Given the description of an element on the screen output the (x, y) to click on. 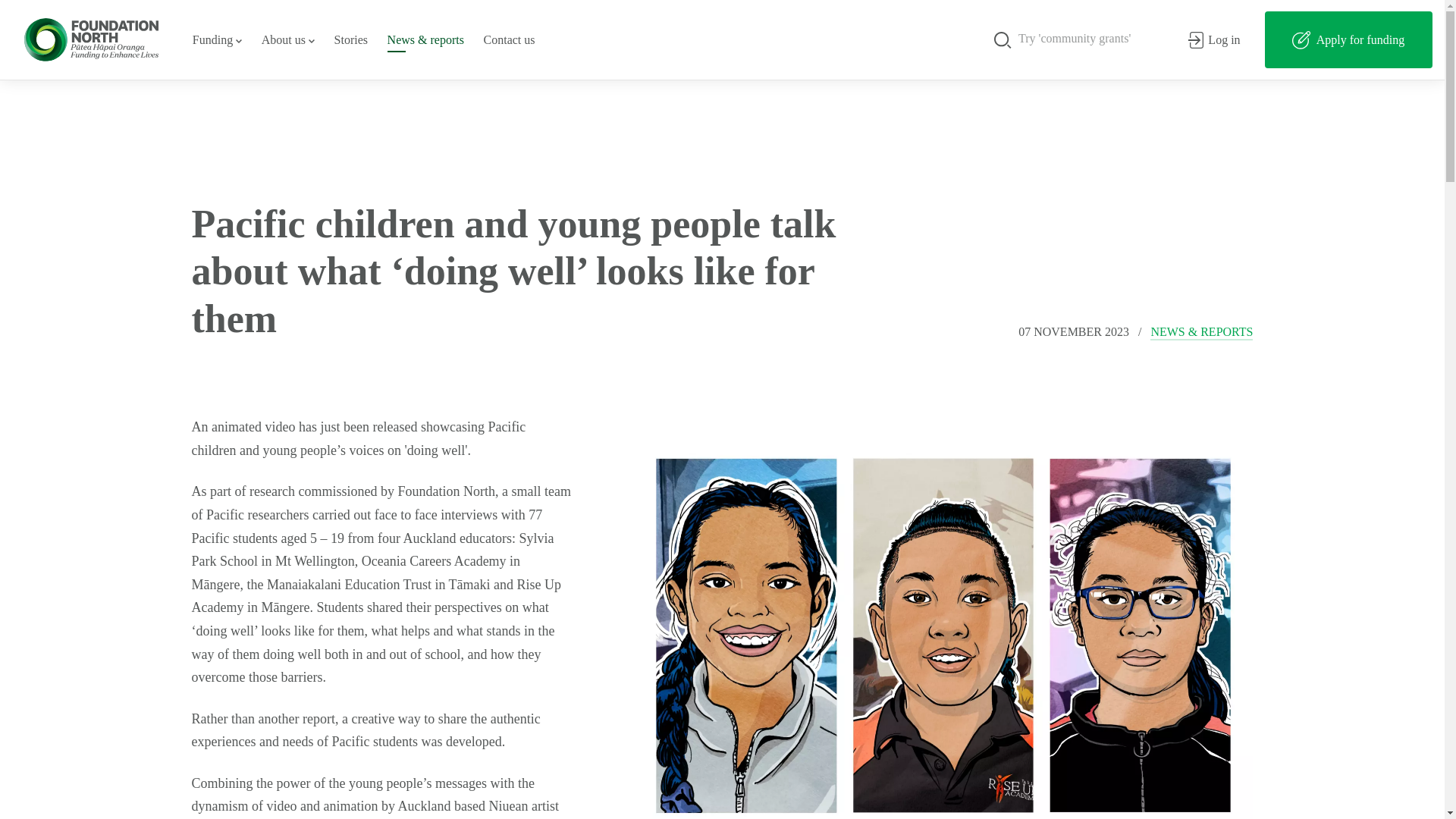
About us (287, 39)
Contact us (509, 39)
Apply for funding (1348, 39)
Funding (217, 39)
